Given the description of an element on the screen output the (x, y) to click on. 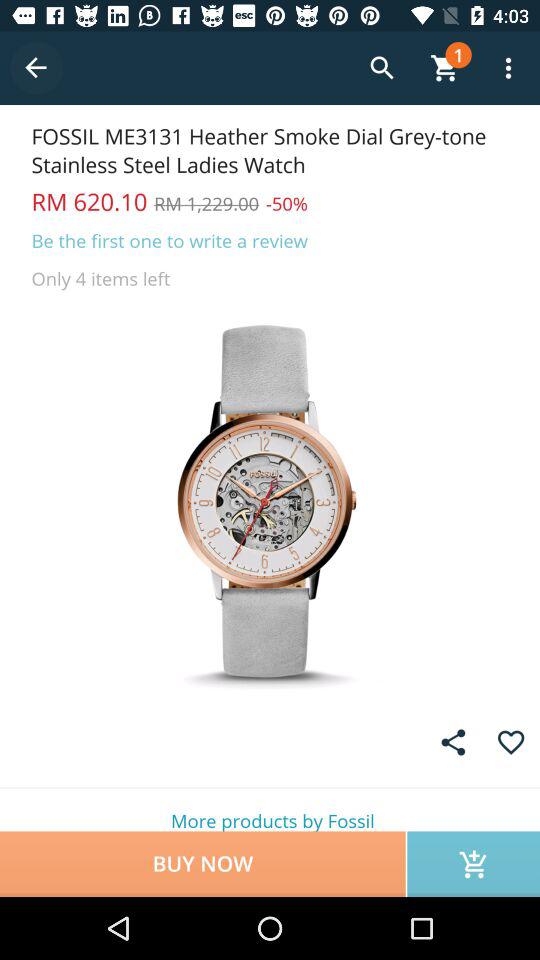
go back (36, 68)
